Given the description of an element on the screen output the (x, y) to click on. 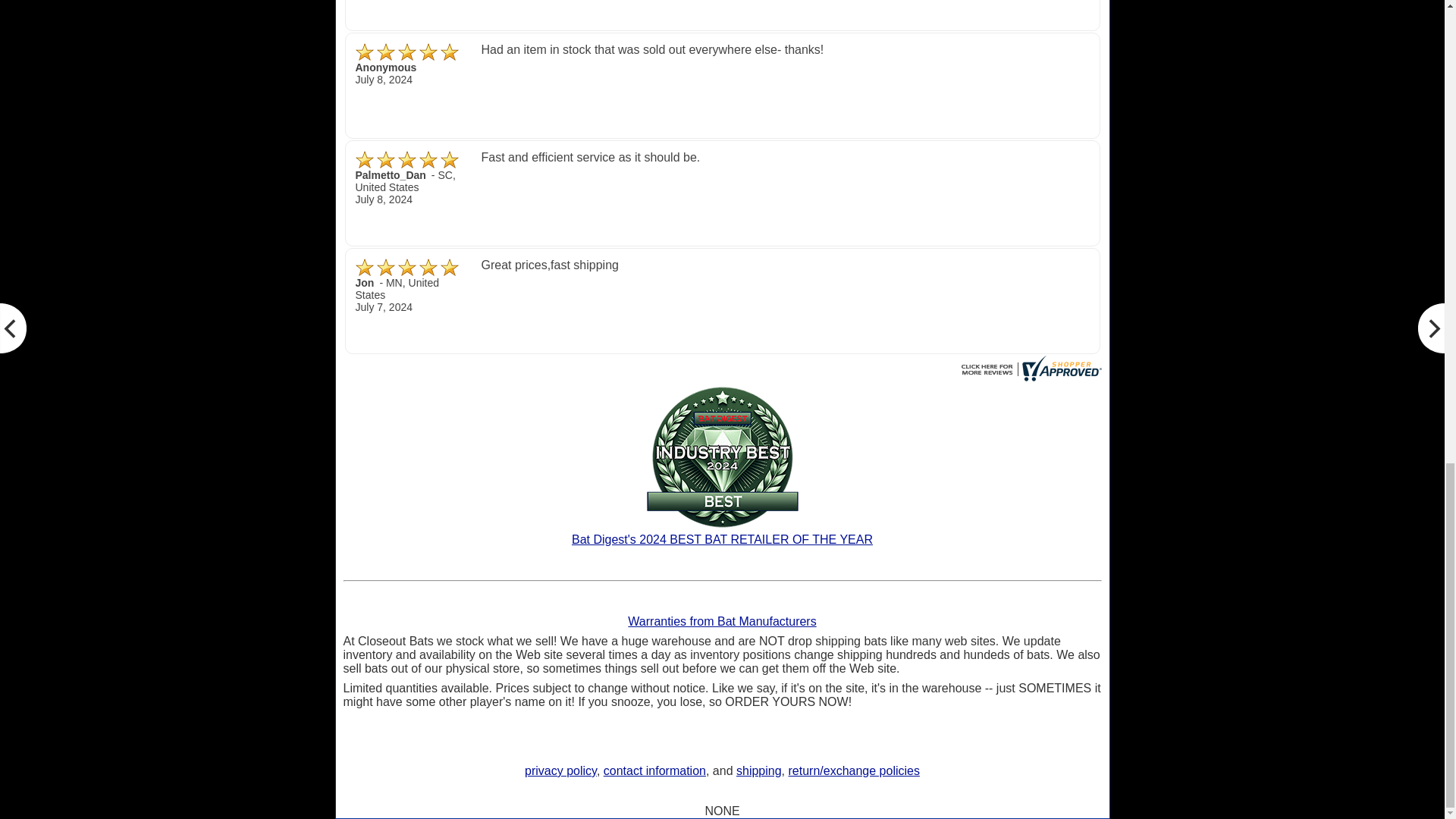
privacy policy (560, 770)
Bat Digest's 2024 BEST BAT RETAILER OF THE YEAR (722, 534)
Warranties from Bat Manufacturers (721, 621)
contact information (655, 770)
shipping (758, 770)
